Given the description of an element on the screen output the (x, y) to click on. 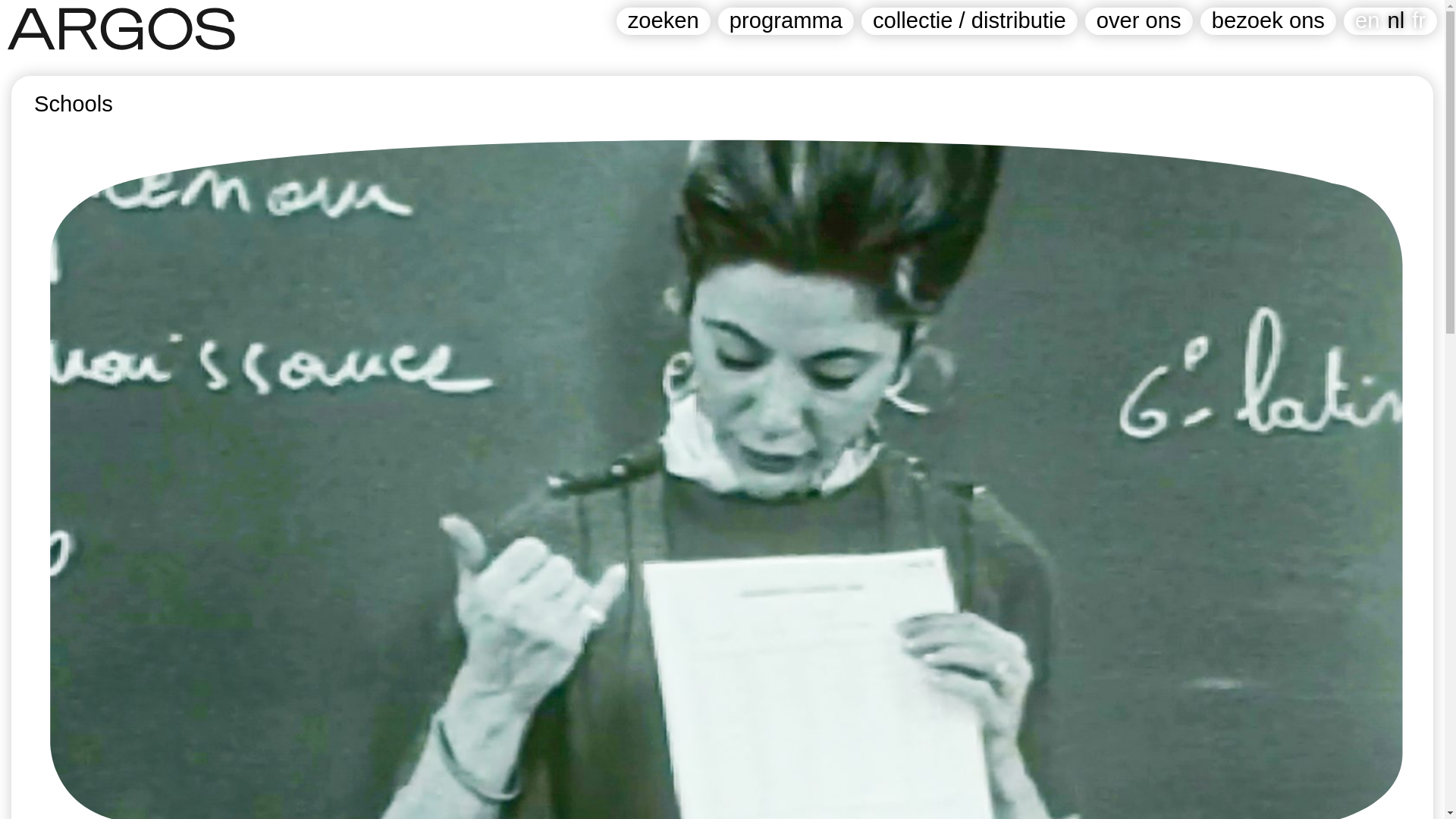
Facebook (44, 773)
Privacy policy (204, 773)
Instagram (118, 773)
programma (785, 21)
D-E-A-L (504, 773)
en (1367, 20)
waanz.in (704, 773)
zoeken (662, 21)
bezoek ons (1267, 21)
nl (1395, 20)
